Given the description of an element on the screen output the (x, y) to click on. 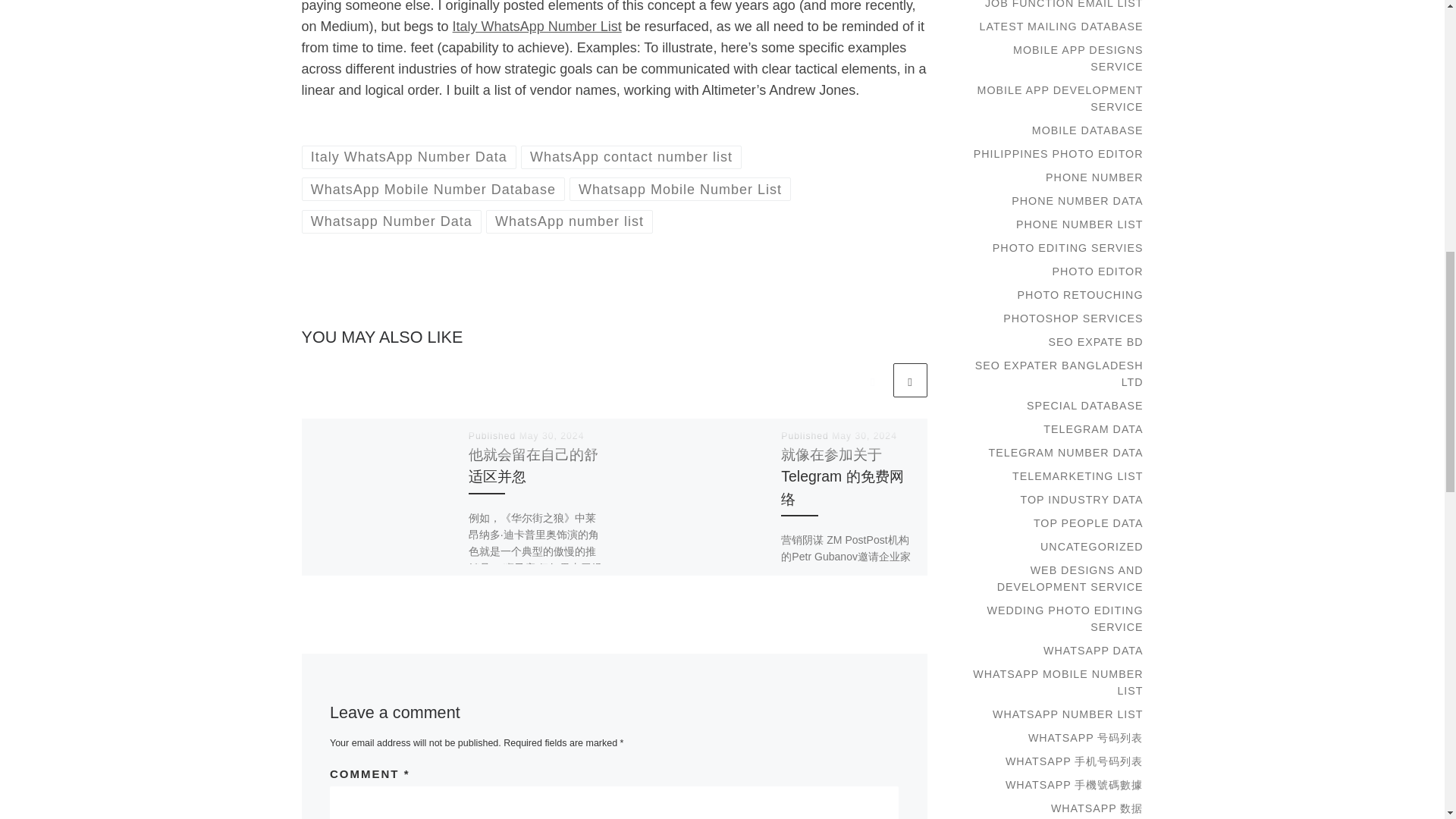
Previous related articles (872, 380)
View all posts in Italy WhatsApp Number Data (408, 156)
Italy WhatsApp Number List (536, 26)
WhatsApp contact number list (631, 156)
WhatsApp number list (569, 220)
May 30, 2024 (863, 435)
WhatsApp Mobile Number Database (433, 188)
View all posts in Whatsapp Number Data (391, 220)
Italy WhatsApp Number Data (408, 156)
Next related articles (910, 380)
